Given the description of an element on the screen output the (x, y) to click on. 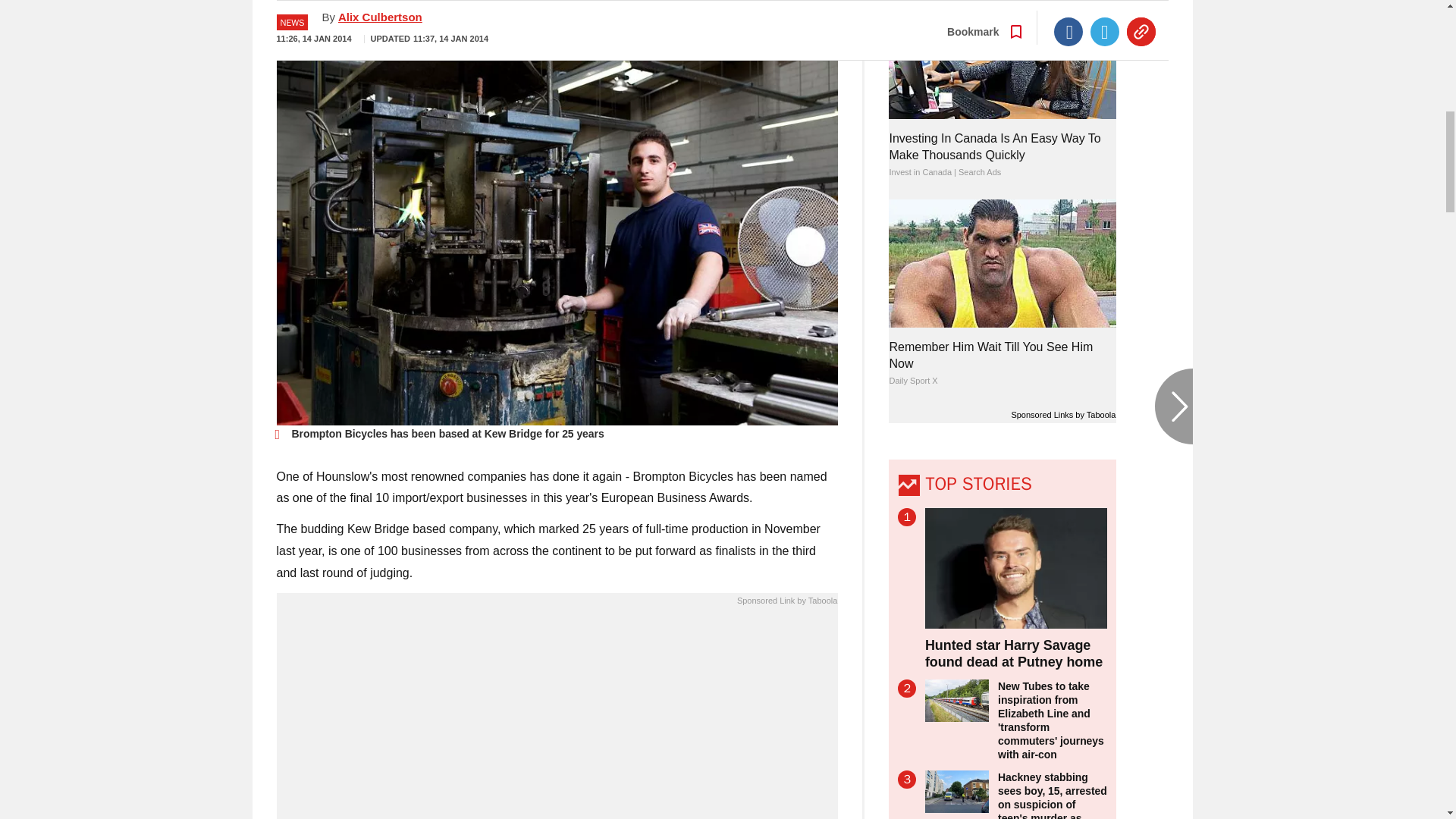
Go (730, 17)
